Given the description of an element on the screen output the (x, y) to click on. 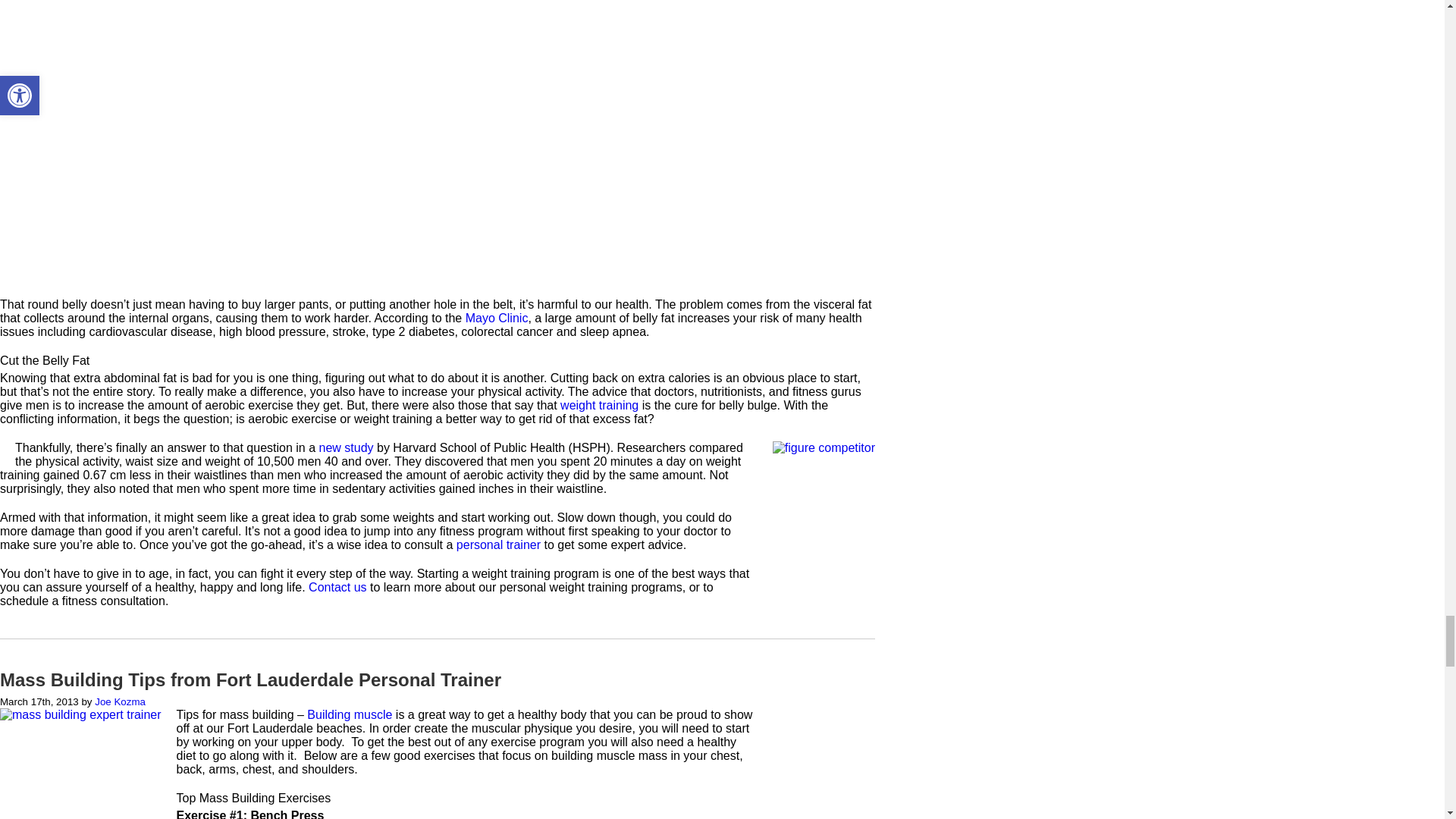
building muscle (349, 714)
Posts by Joe Kozma (119, 701)
